Given the description of an element on the screen output the (x, y) to click on. 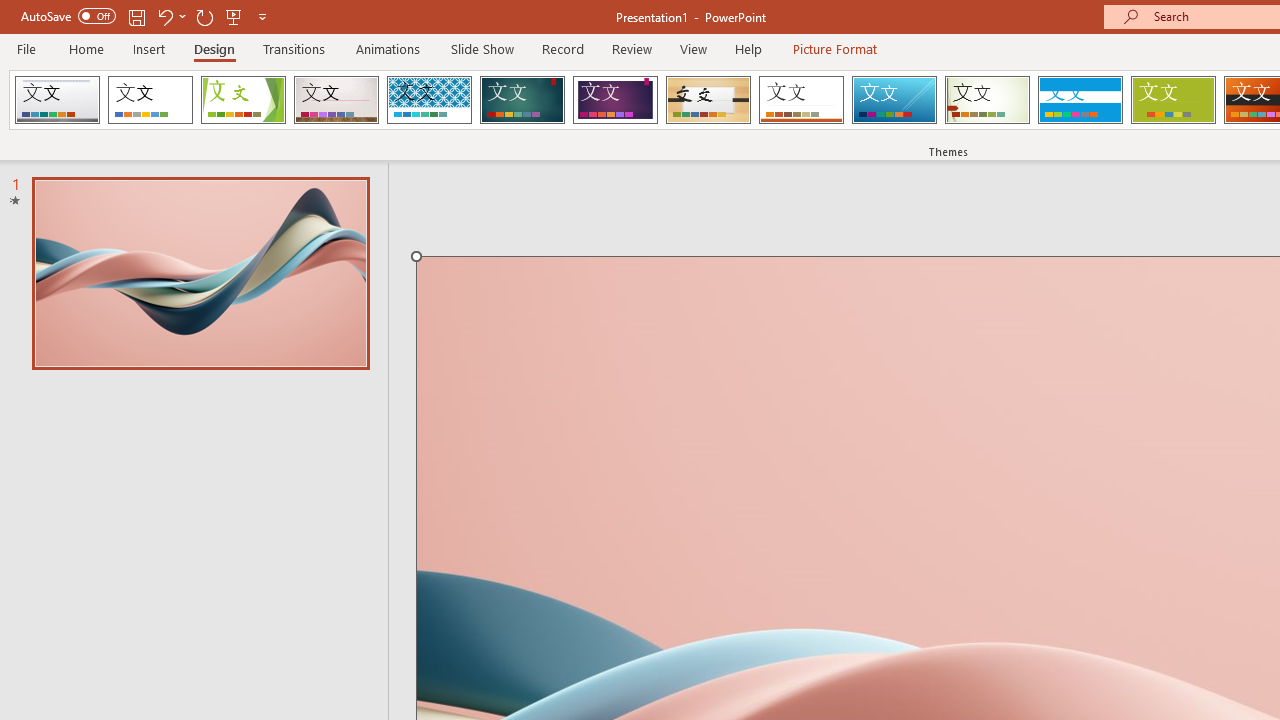
Ion (522, 100)
Basis (1172, 100)
AfterglowVTI (57, 100)
Slice (893, 100)
